Given the description of an element on the screen output the (x, y) to click on. 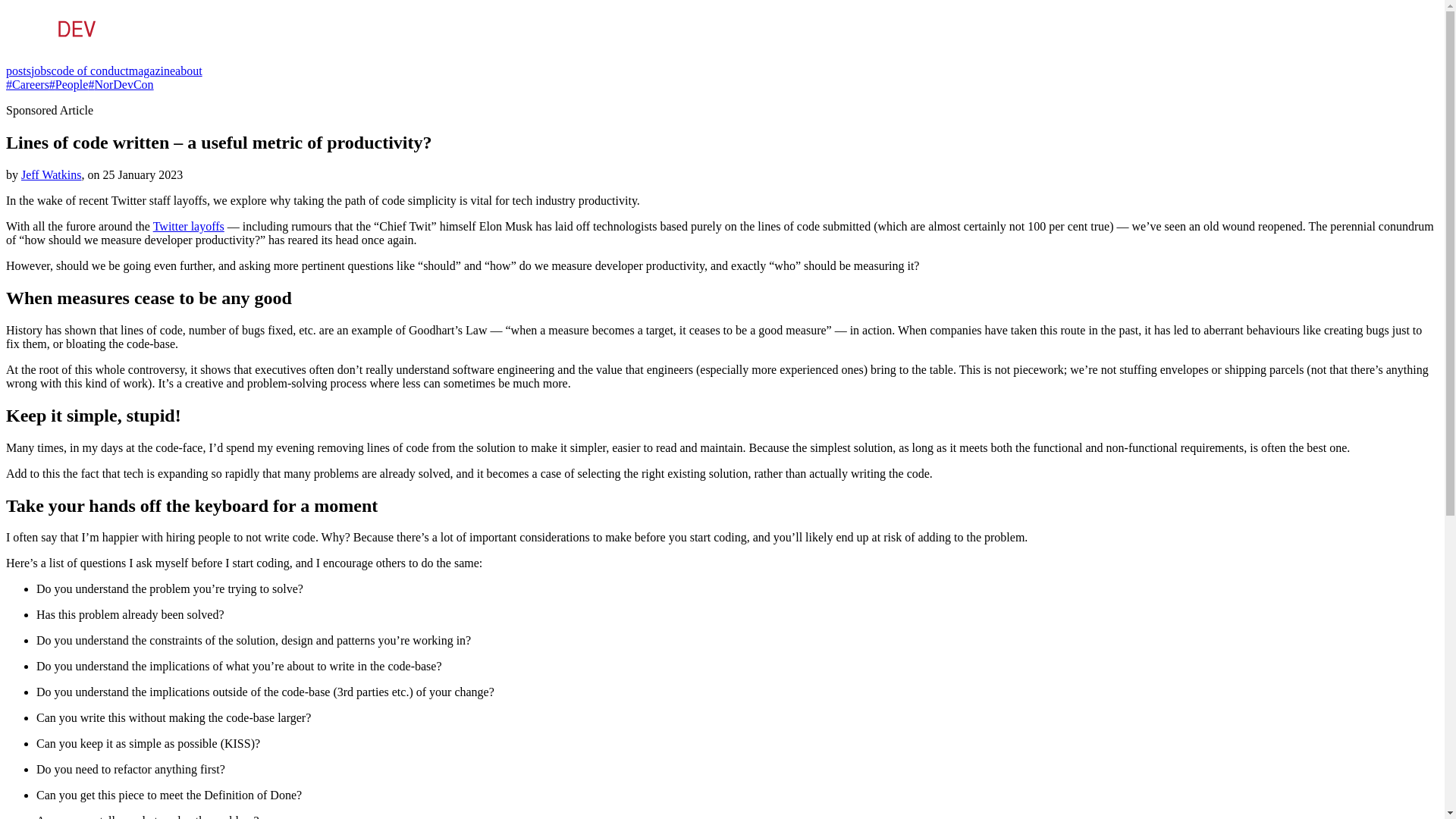
posts (17, 70)
magazine (151, 70)
about (188, 70)
jobs (40, 70)
code of conduct (89, 70)
Jeff Watkins (51, 174)
Twitter layoffs (188, 226)
